Given the description of an element on the screen output the (x, y) to click on. 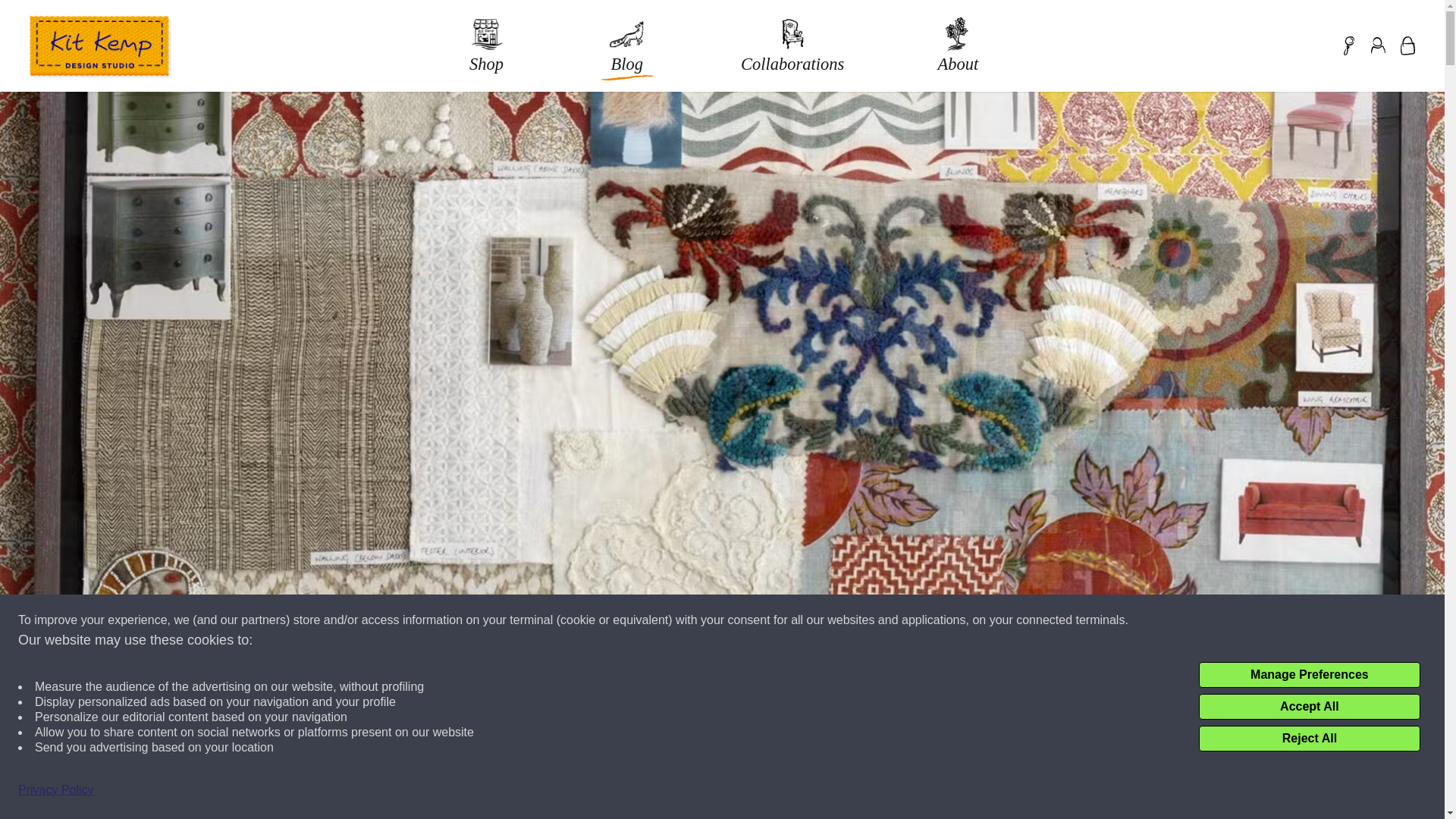
Shop (486, 41)
Search (1348, 45)
Accept All (1309, 706)
Account (1377, 45)
Privacy Policy (55, 789)
Blog (626, 41)
Cart (1406, 45)
Manage Preferences (1309, 674)
About (957, 41)
Collaborations (792, 41)
Kit Kemp Design Studio (99, 45)
Reject All (1309, 738)
